Given the description of an element on the screen output the (x, y) to click on. 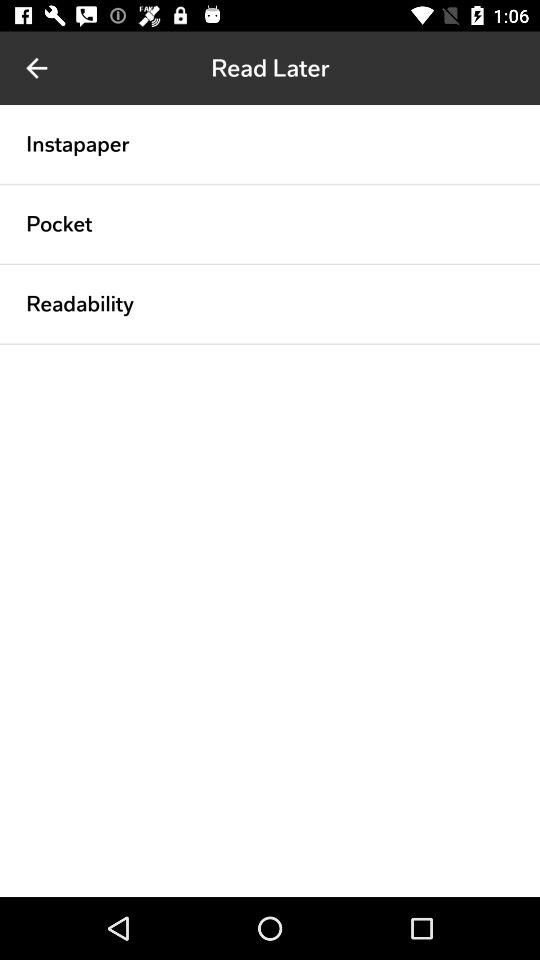
flip to instapaper icon (77, 144)
